Given the description of an element on the screen output the (x, y) to click on. 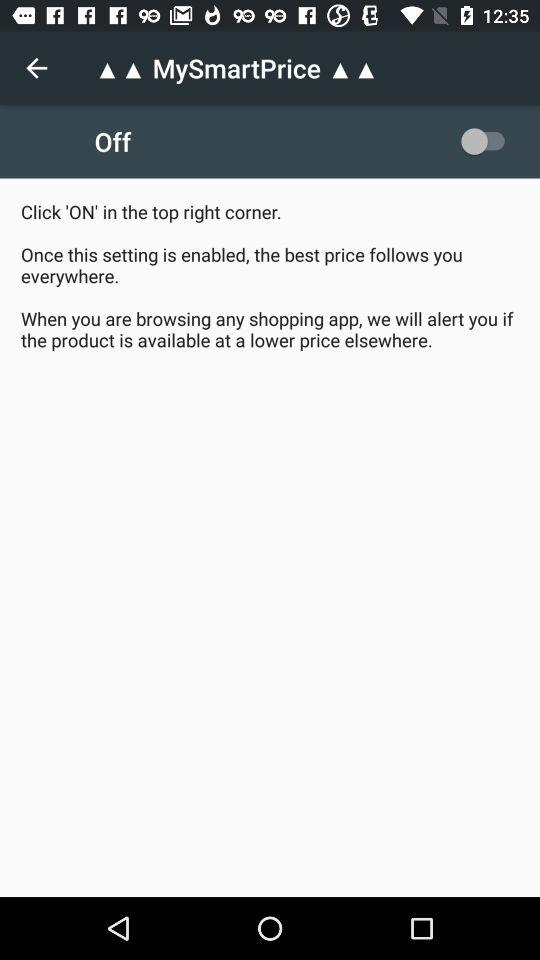
swipe until click on in item (270, 275)
